Given the description of an element on the screen output the (x, y) to click on. 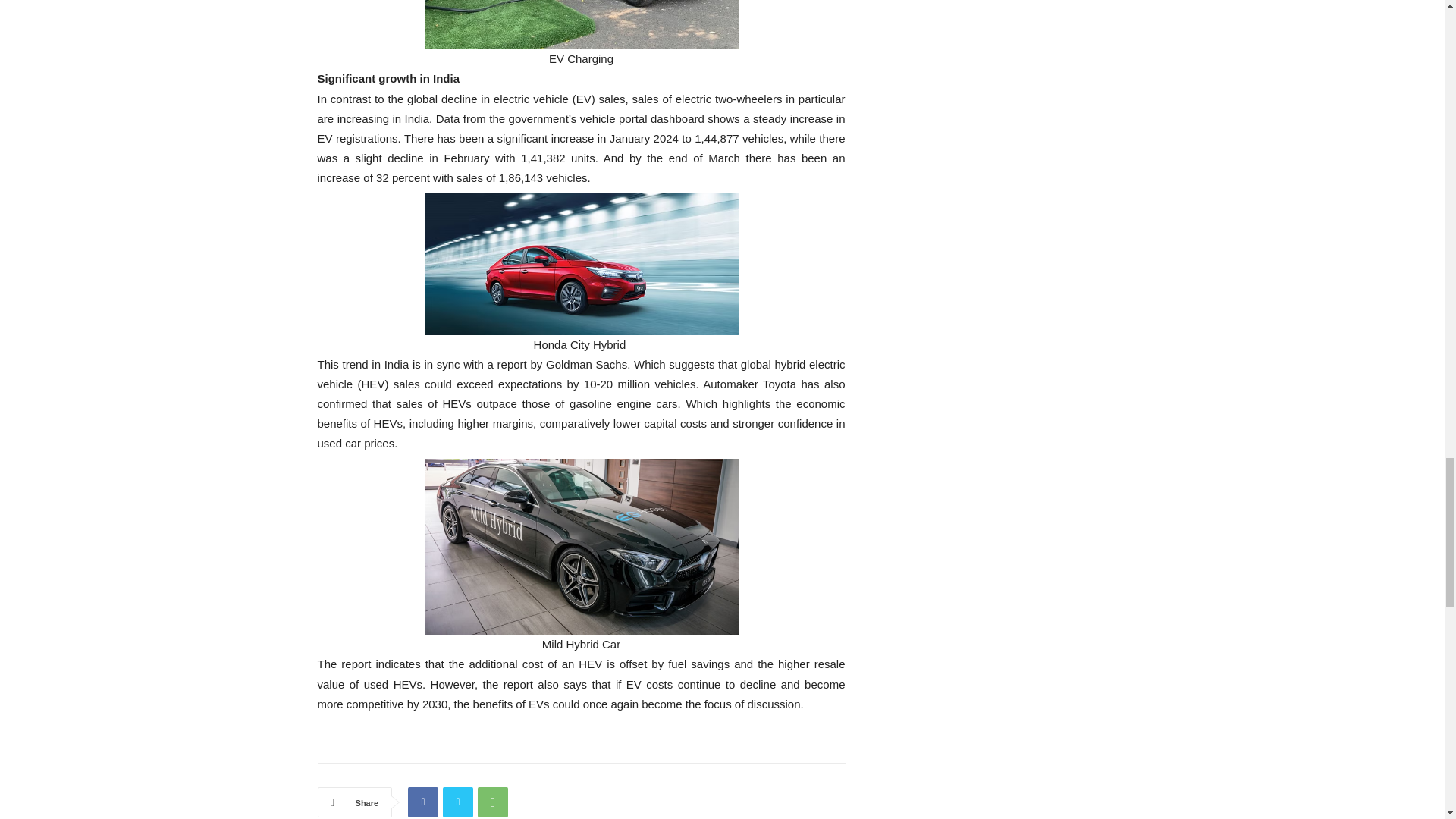
Mild Hybrid Car (580, 556)
Honda City Hybrid  (580, 273)
EV Charging (580, 34)
